Given the description of an element on the screen output the (x, y) to click on. 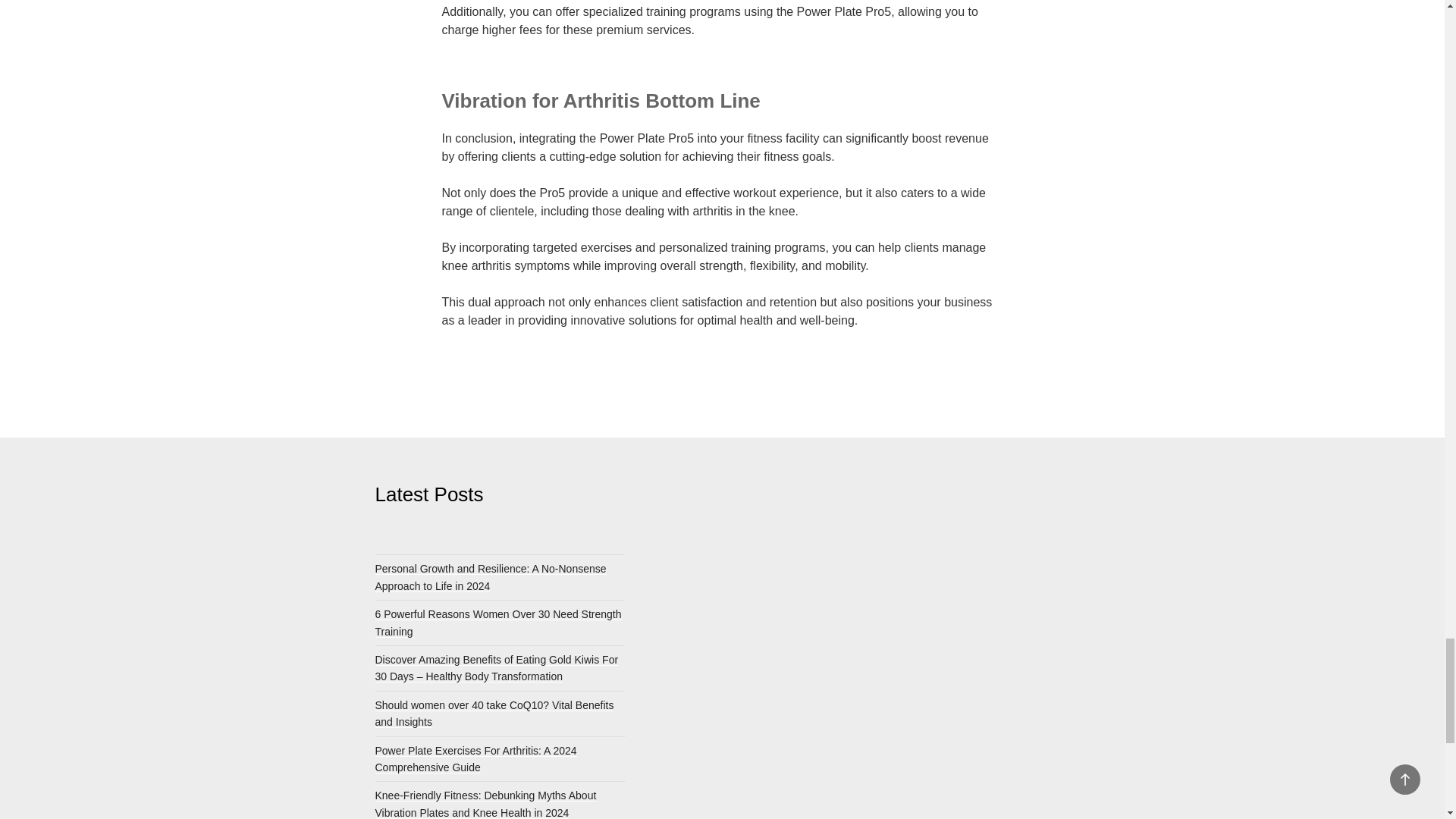
6 Powerful Reasons Women Over 30 Need Strength Training (497, 622)
Should women over 40 take CoQ10? Vital Benefits and Insights (493, 713)
